Given the description of an element on the screen output the (x, y) to click on. 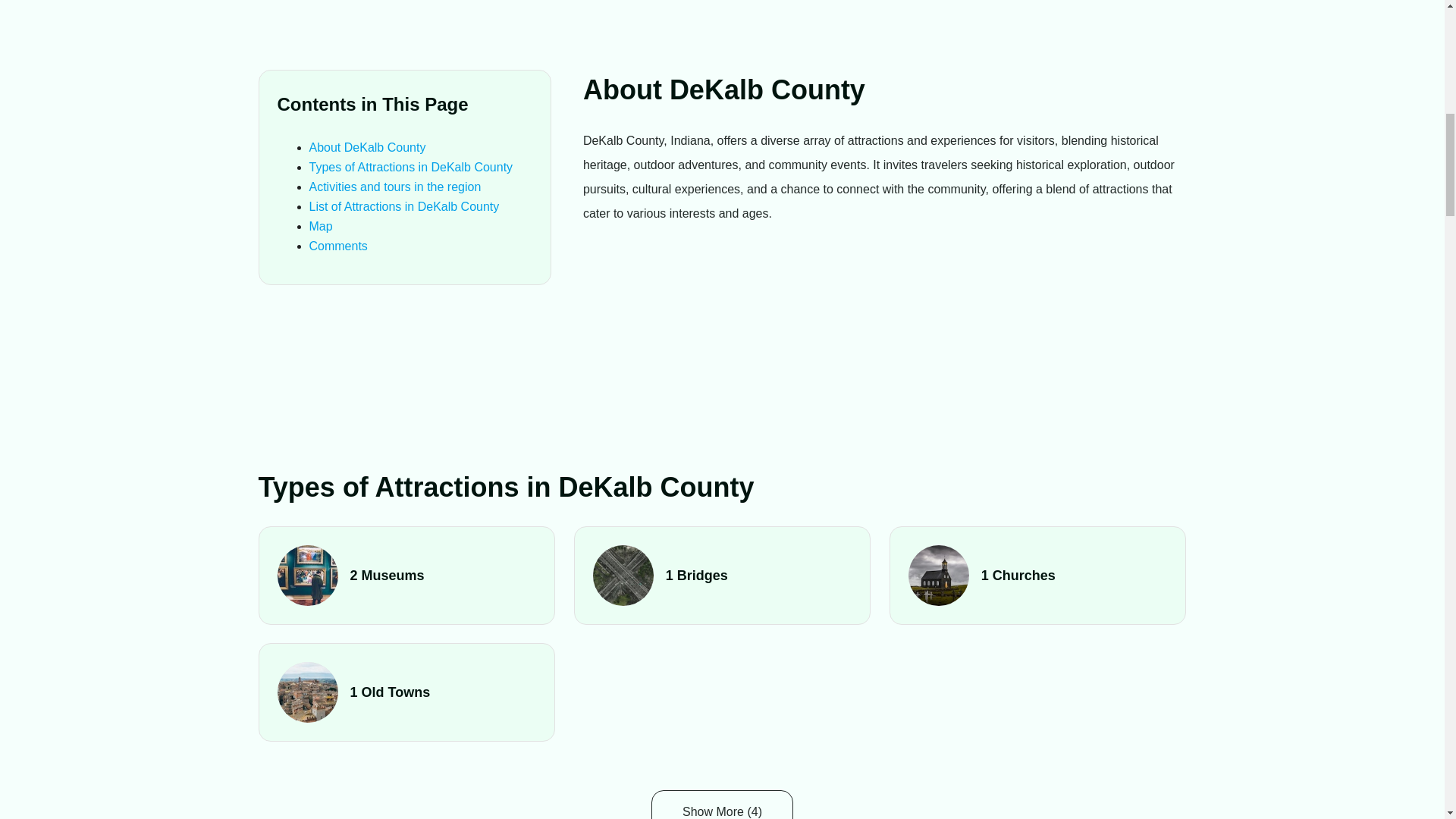
About DeKalb County (367, 146)
1 Bridges (721, 575)
2 Museums (407, 575)
Types of Attractions in DeKalb County (410, 166)
1 Old Towns (407, 691)
List of Attractions in DeKalb County (403, 205)
Comments (338, 245)
1 Churches (1037, 575)
Activities and tours in the region (394, 186)
Map (320, 226)
